Given the description of an element on the screen output the (x, y) to click on. 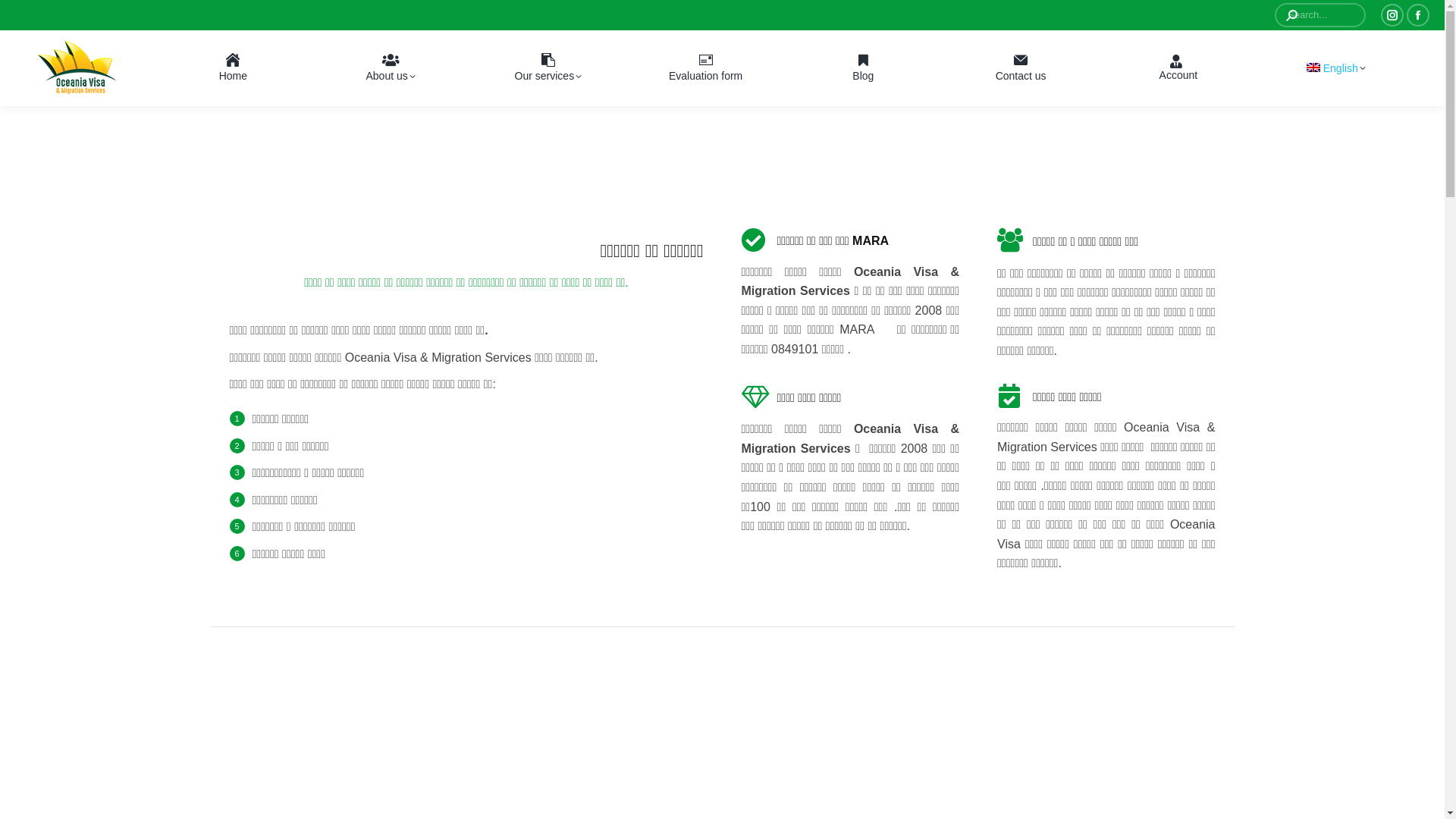
Home Element type: text (232, 68)
About us Element type: text (390, 68)
Blog Element type: text (862, 68)
Contact us Element type: text (1020, 68)
Facebook page opens in new window Element type: text (1417, 14)
Instagram page opens in new window Element type: text (1391, 14)
English Element type: text (1335, 68)
Account Element type: text (1177, 68)
Search form Element type: hover (1319, 15)
Go! Element type: text (31, 16)
Our services Element type: text (548, 68)
Evaluation form Element type: text (705, 68)
